Given the description of an element on the screen output the (x, y) to click on. 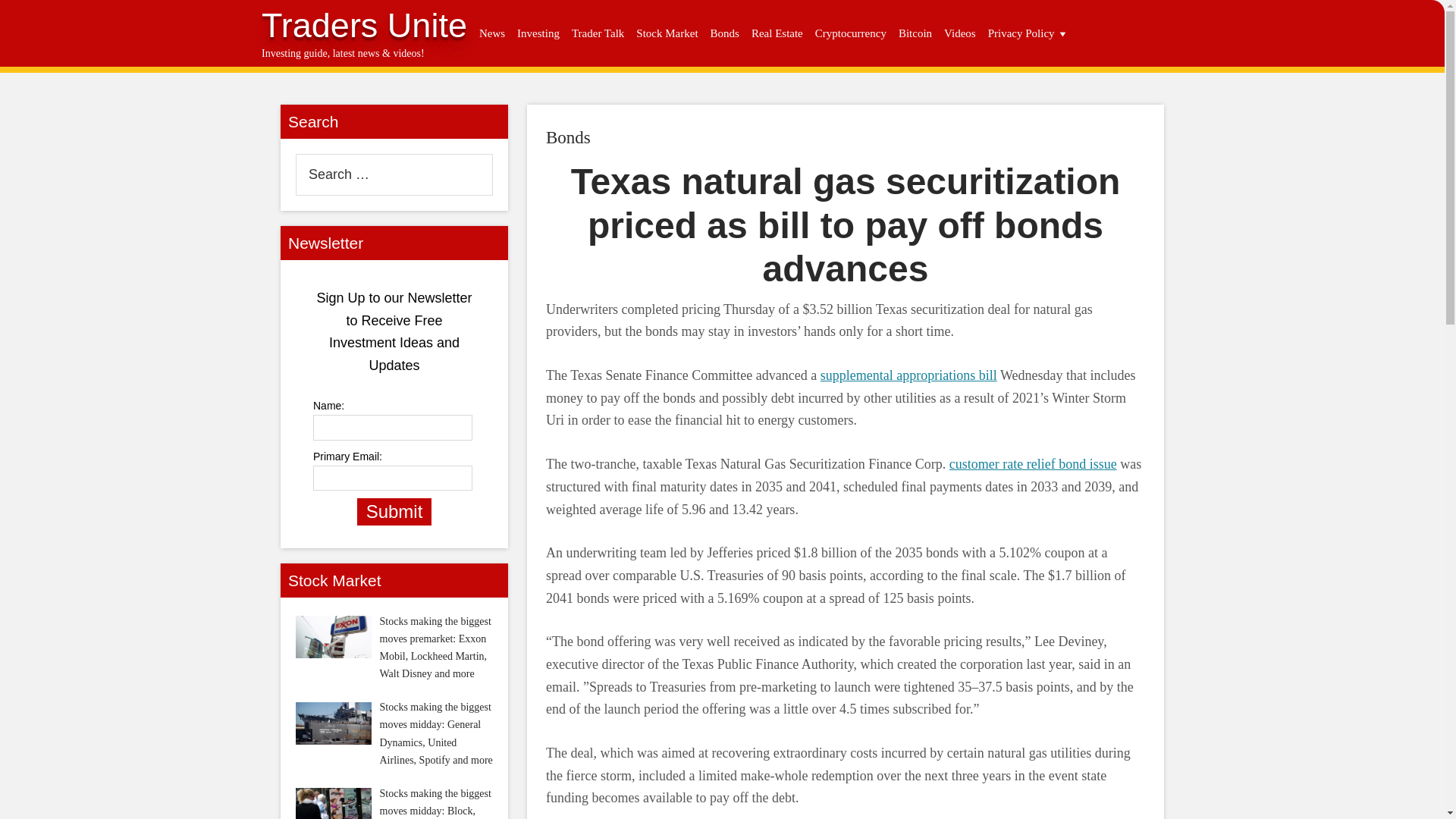
Cryptocurrency (850, 33)
supplemental appropriations bill (909, 375)
Stock Market (666, 33)
Real Estate (777, 33)
Trader Talk (598, 33)
Privacy Policy (1028, 33)
Traders Unite (364, 25)
Submit (394, 511)
